Given the description of an element on the screen output the (x, y) to click on. 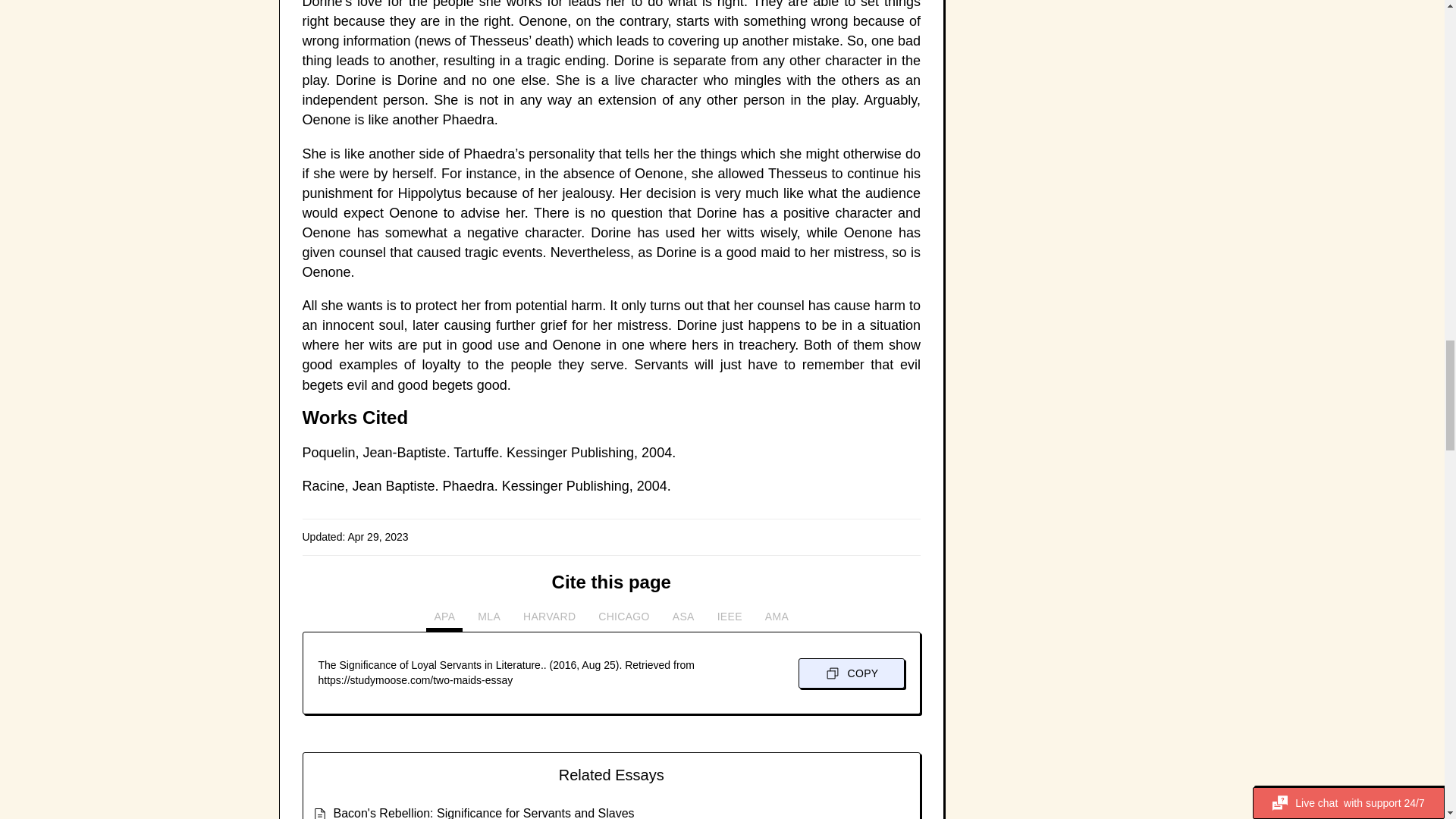
MLA (489, 620)
HARVARD (549, 620)
APA (444, 620)
